Given the description of an element on the screen output the (x, y) to click on. 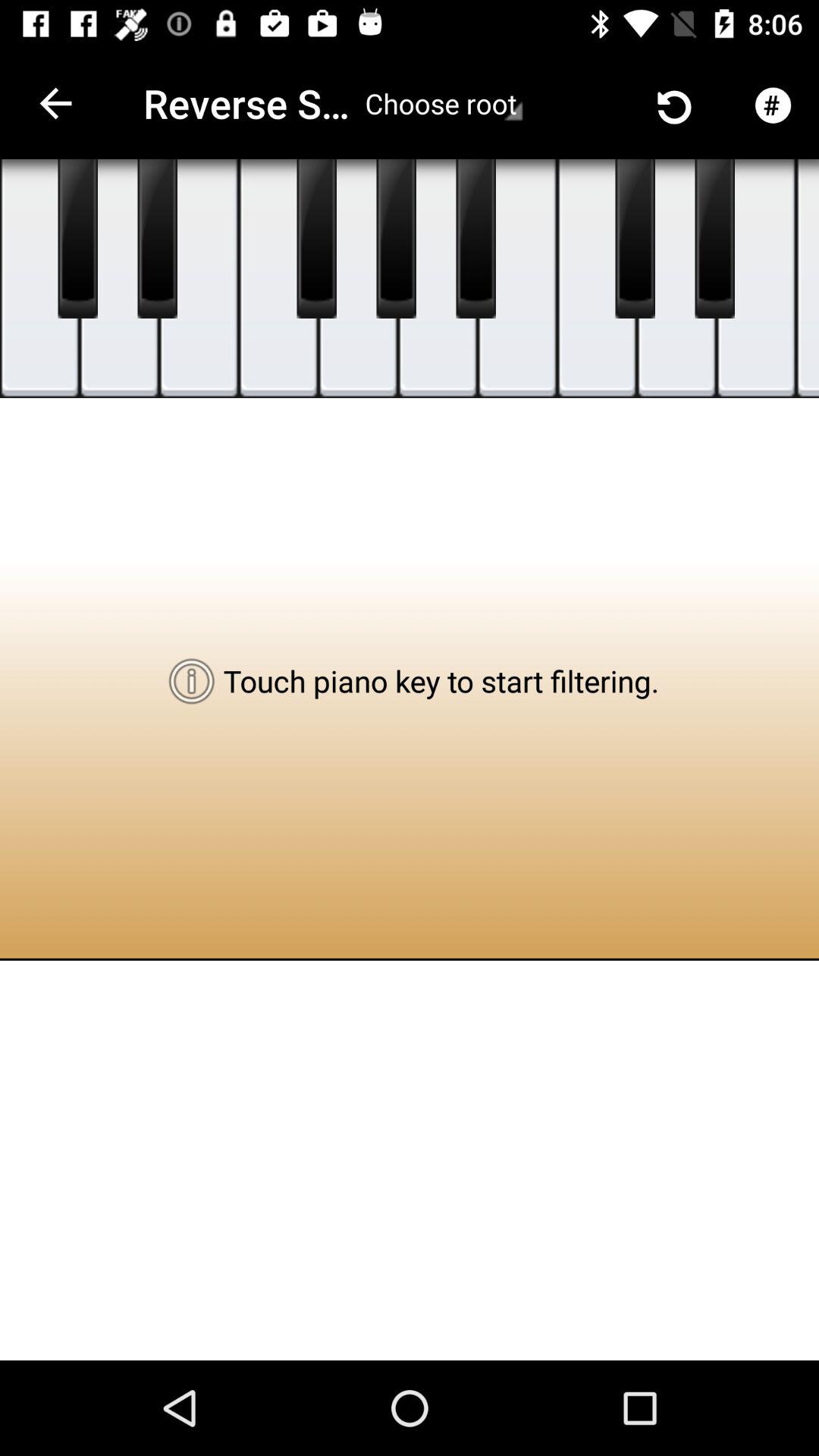
start filtering (157, 238)
